Given the description of an element on the screen output the (x, y) to click on. 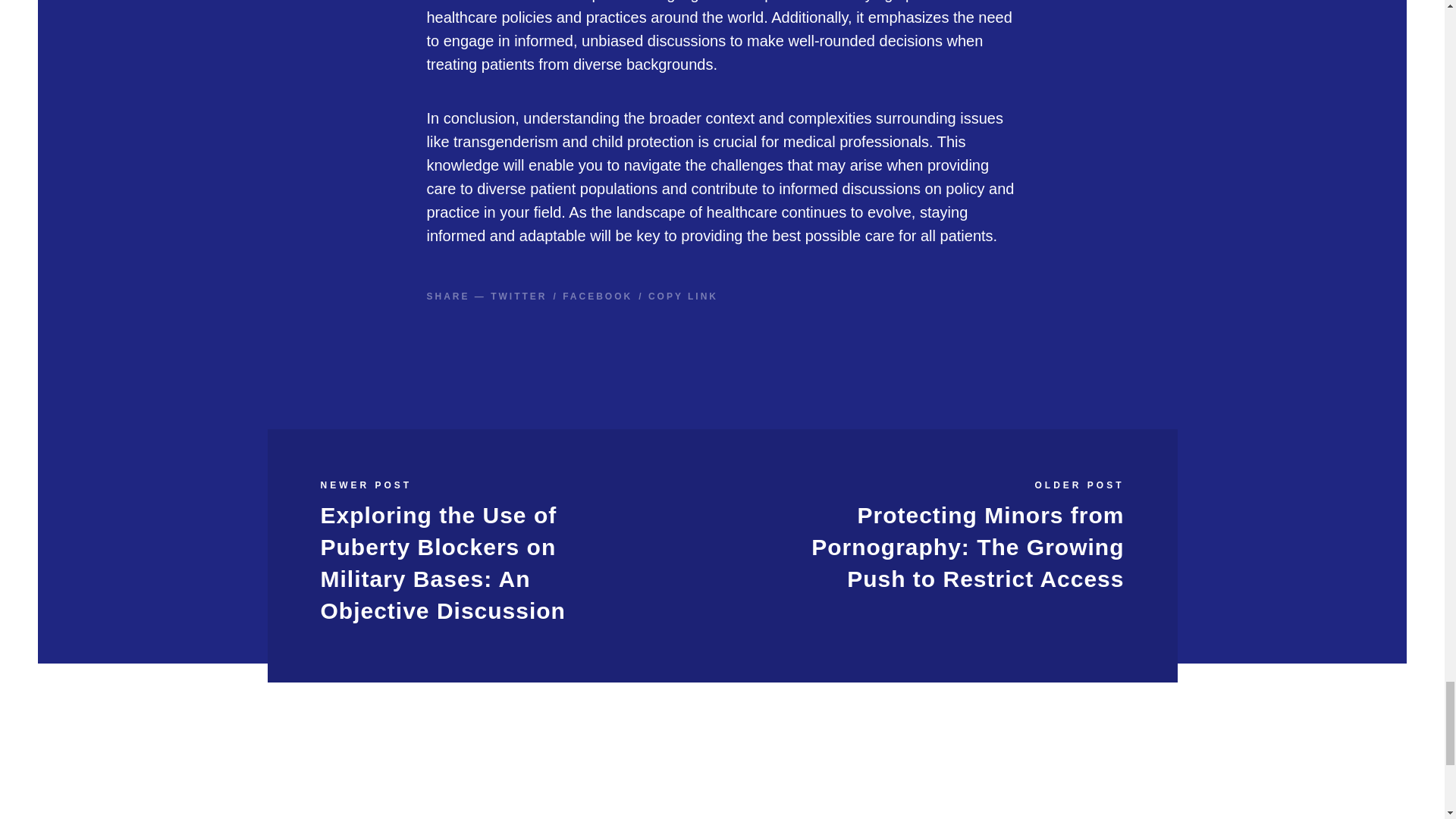
TWITTER (518, 296)
Subscribe (574, 816)
COPY LINK (682, 296)
FACEBOOK (596, 296)
